Given the description of an element on the screen output the (x, y) to click on. 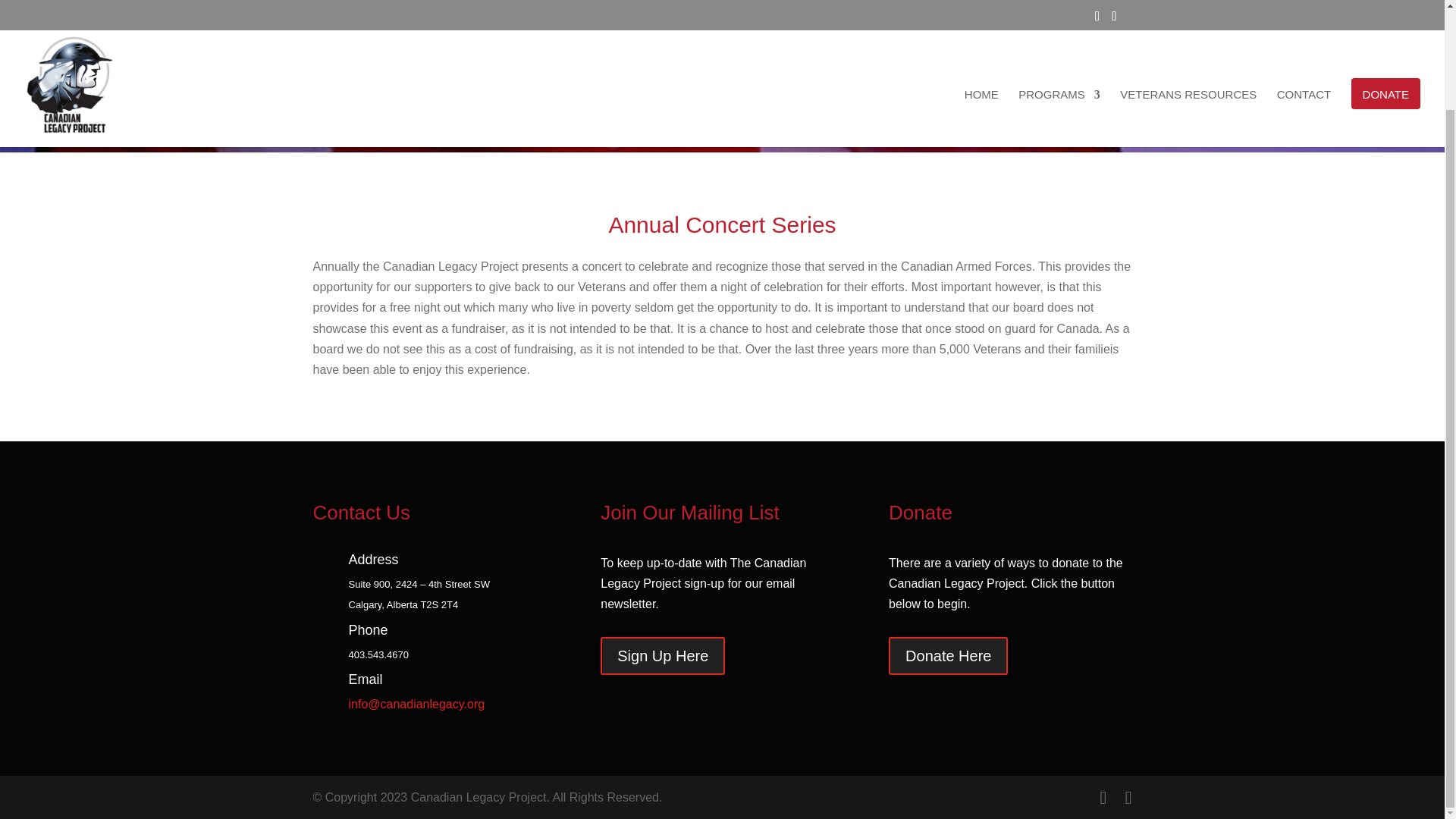
Phone (368, 630)
Donate Here (947, 655)
Sign Up Here (662, 655)
